Given the description of an element on the screen output the (x, y) to click on. 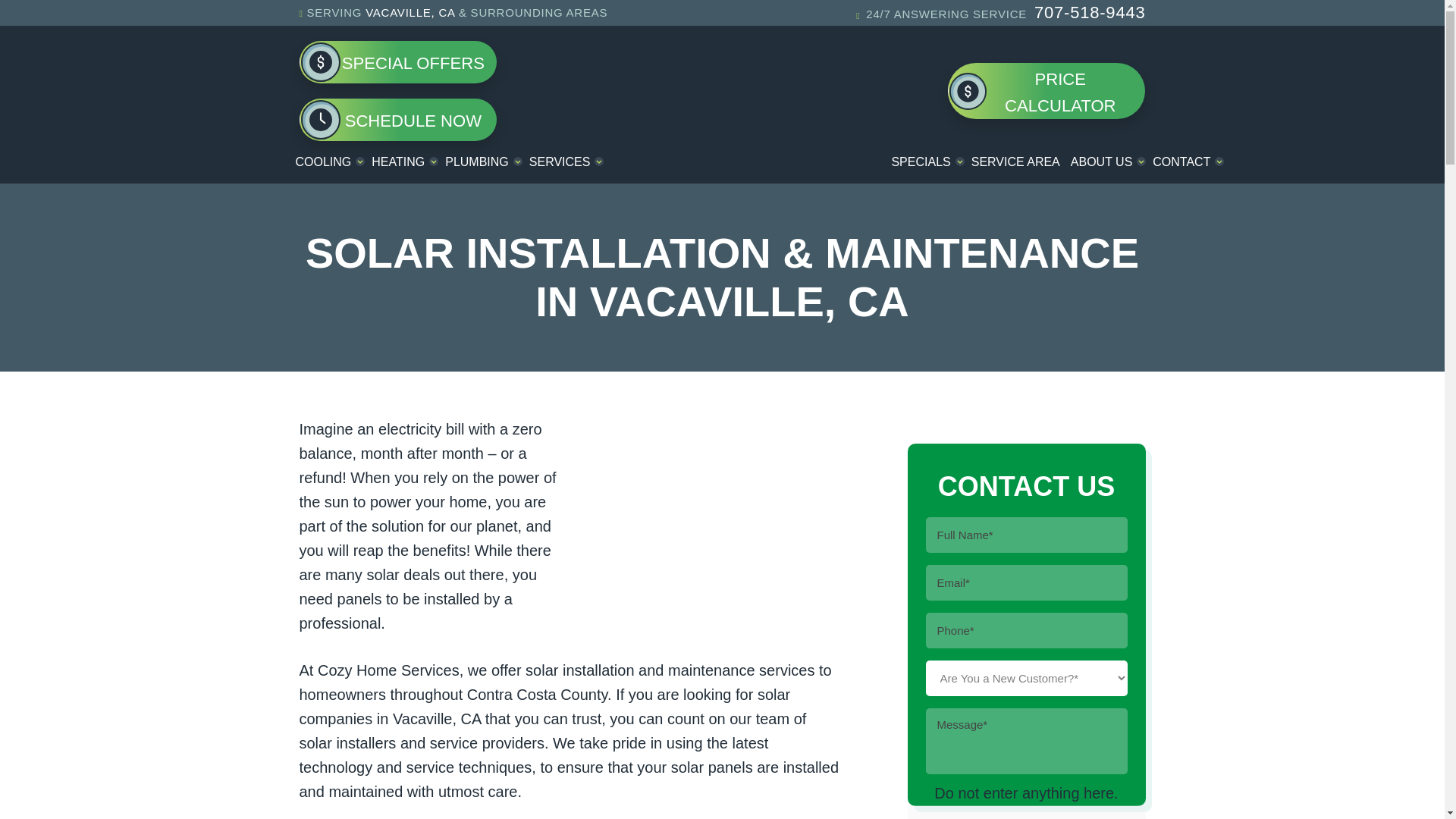
Cozy Home Services (722, 82)
